Given the description of an element on the screen output the (x, y) to click on. 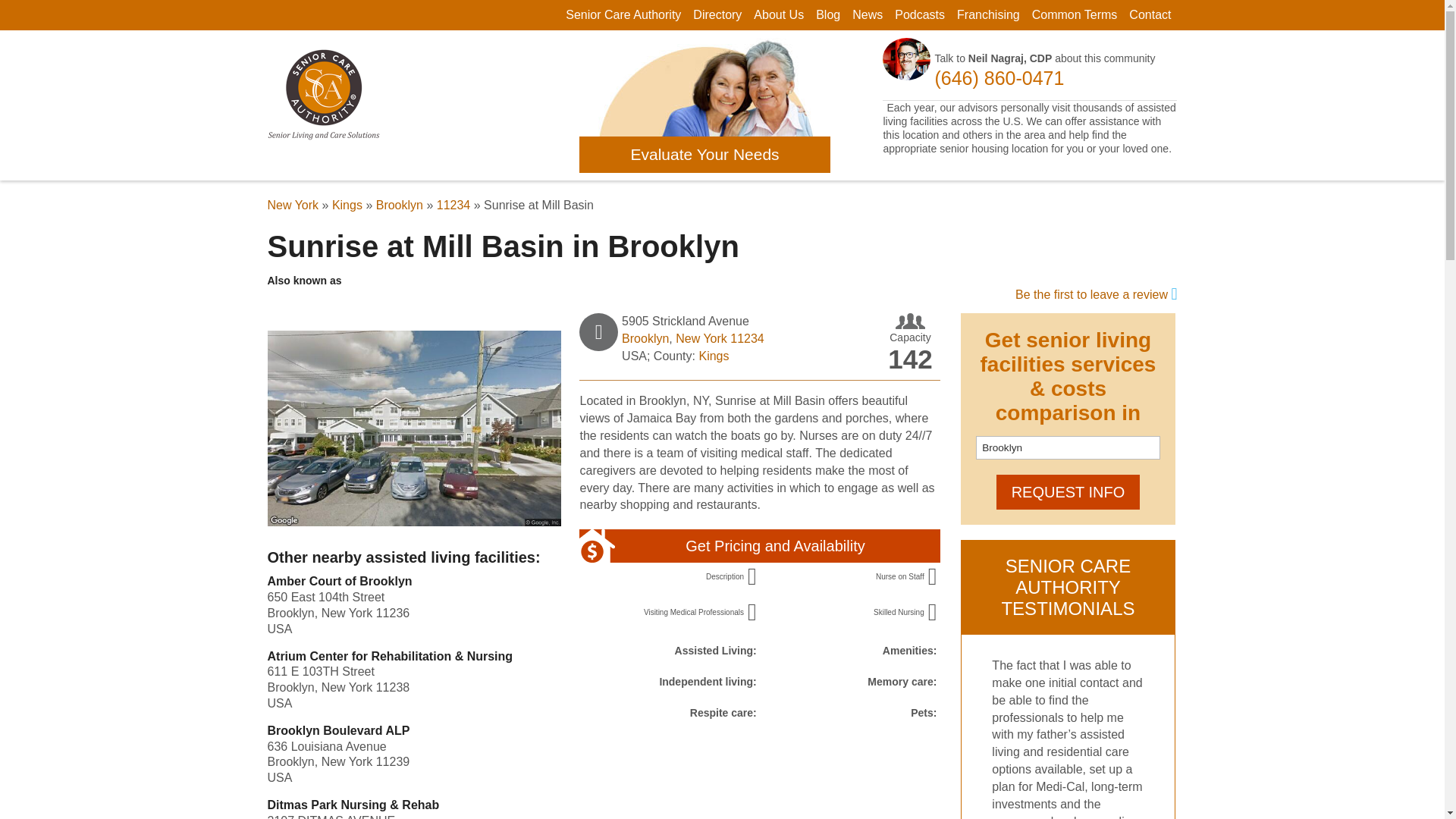
Amber Court of Brooklyn (339, 581)
Senior Care Authority (623, 14)
Kings (346, 205)
Default (827, 14)
Directory (717, 14)
Blog (827, 14)
Common Terms (1075, 14)
Brooklyn (644, 338)
Common Terms (1075, 14)
REQUEST INFO (1067, 492)
